Given the description of an element on the screen output the (x, y) to click on. 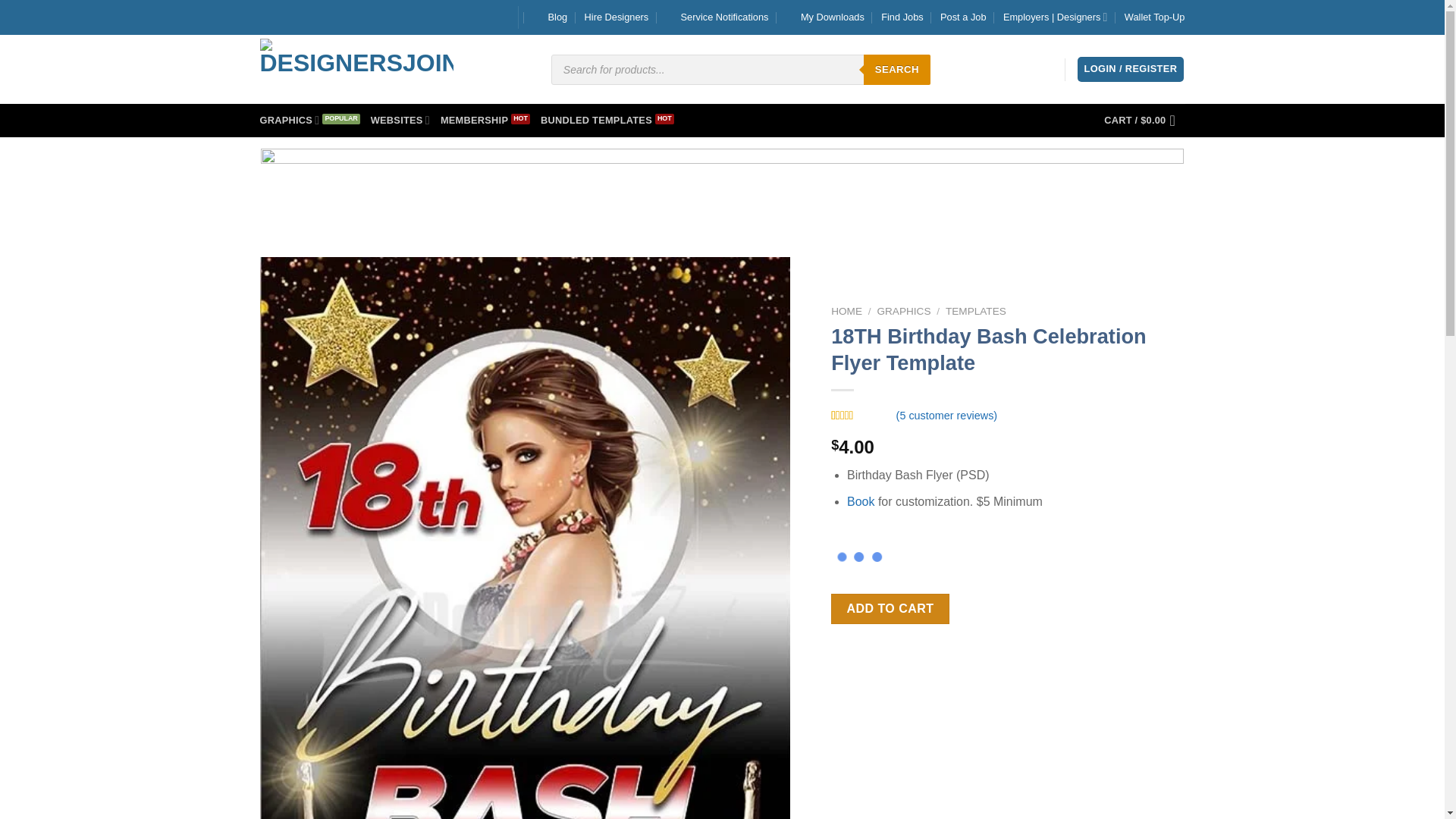
My Downloads (825, 17)
WEBSITES (400, 120)
Find Jobs (901, 17)
Wallet Top-Up (1154, 17)
Hire Designers (617, 17)
Cart (1144, 120)
Service Notifications (716, 17)
DesignersJoint.Com (355, 68)
Blog (549, 17)
